Given the description of an element on the screen output the (x, y) to click on. 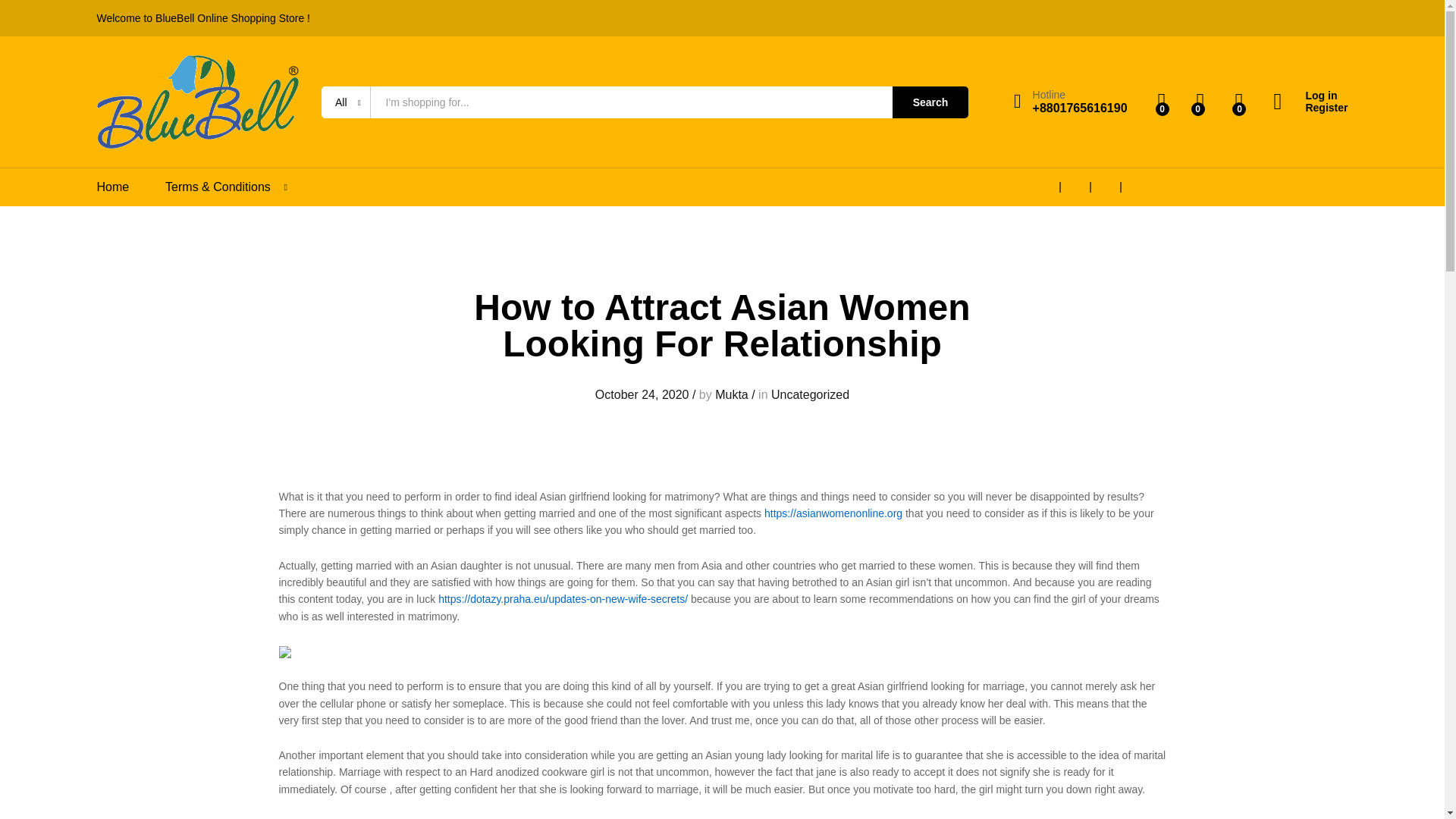
Home (113, 186)
October 24, 2020 (641, 394)
Log in (1310, 95)
Mukta (731, 394)
Uncategorized (809, 394)
Register (1310, 107)
Search (930, 101)
